Given the description of an element on the screen output the (x, y) to click on. 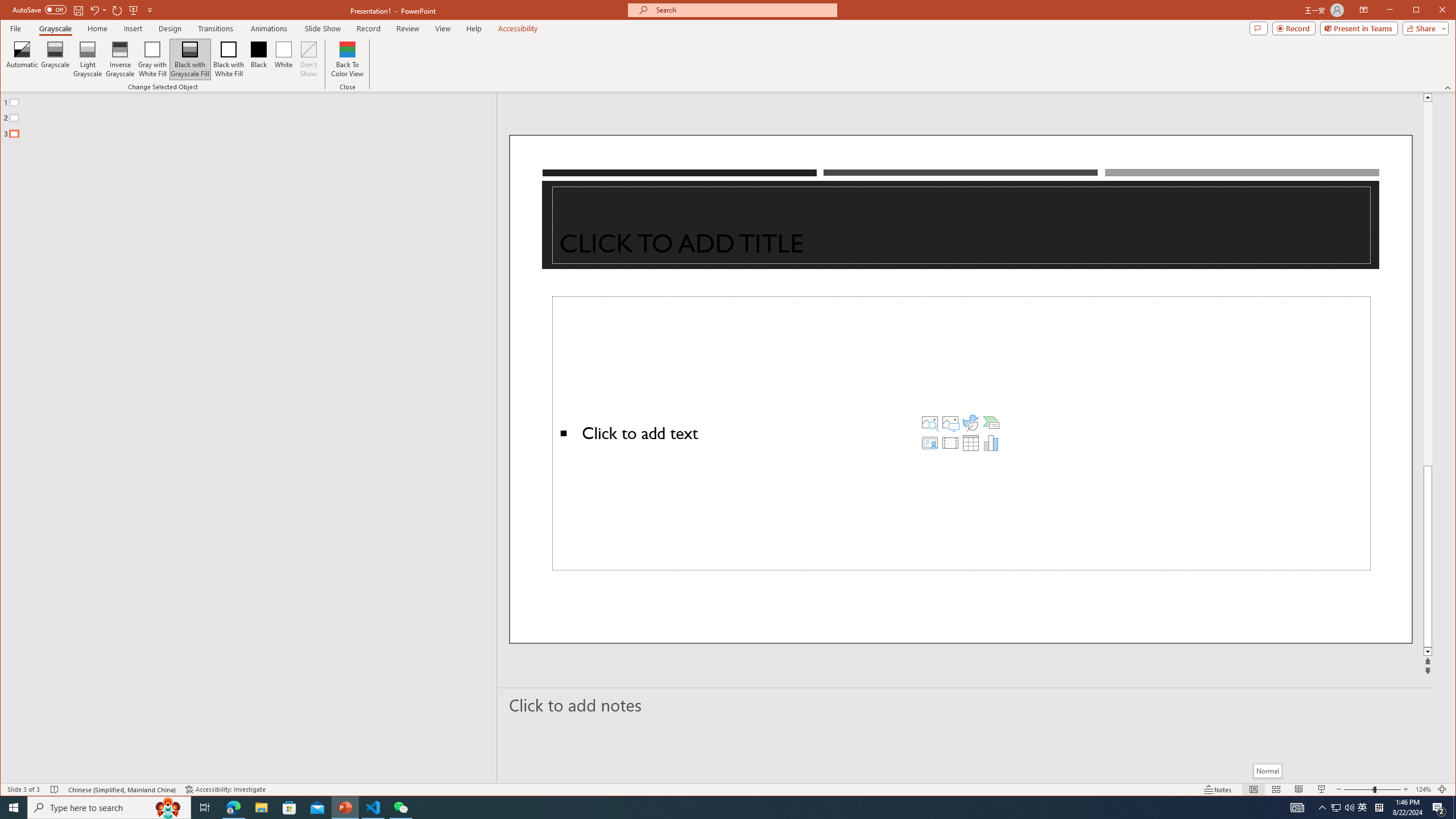
Black with White Fill (229, 59)
